Given the description of an element on the screen output the (x, y) to click on. 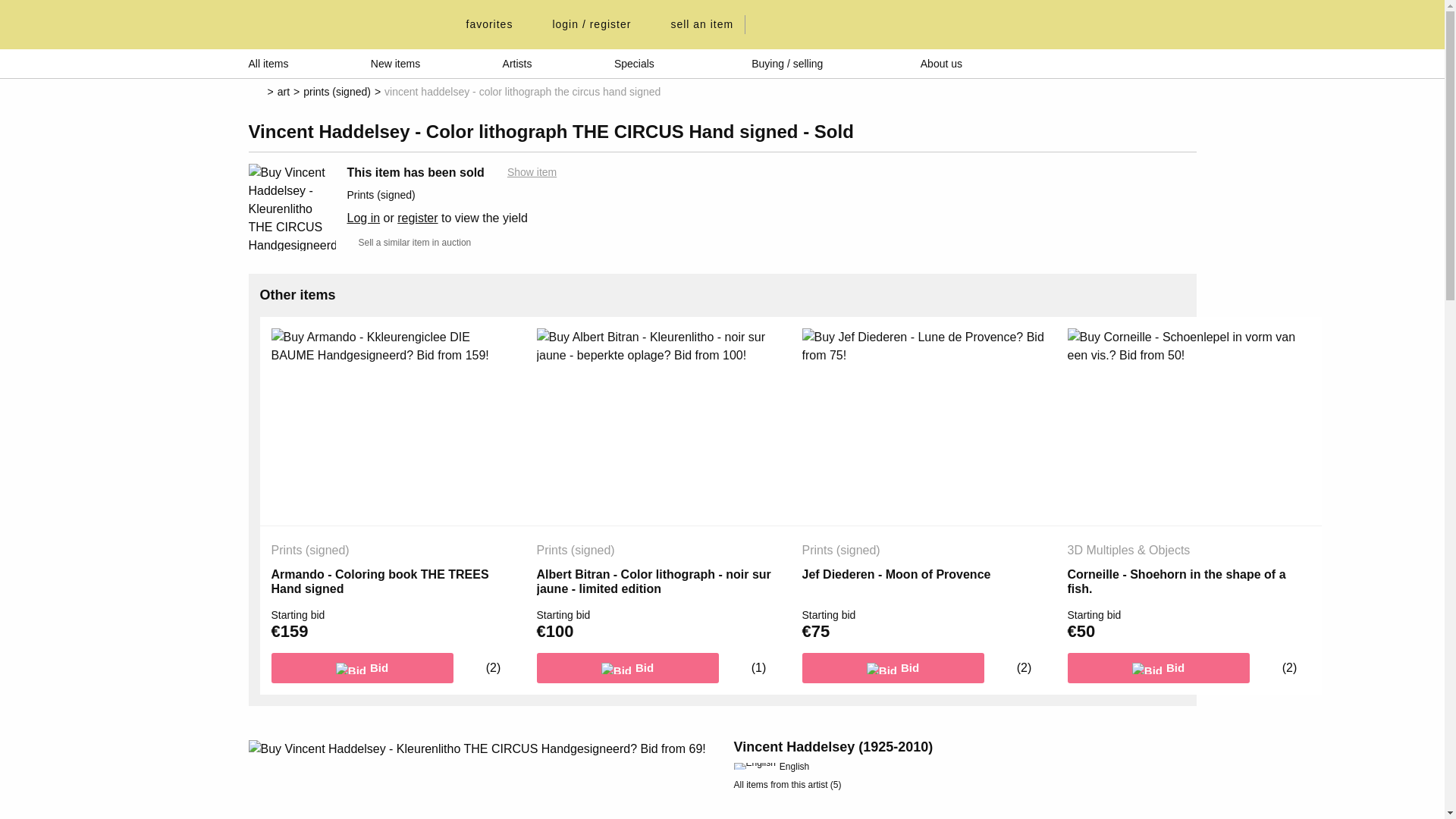
art (283, 91)
Bid (628, 667)
Bid (361, 667)
Sell a similar item in auction (409, 242)
New items (395, 63)
Kunstveiling (337, 24)
kunstveiling (337, 24)
Artists (517, 63)
Trustpilot (1127, 63)
